Given the description of an element on the screen output the (x, y) to click on. 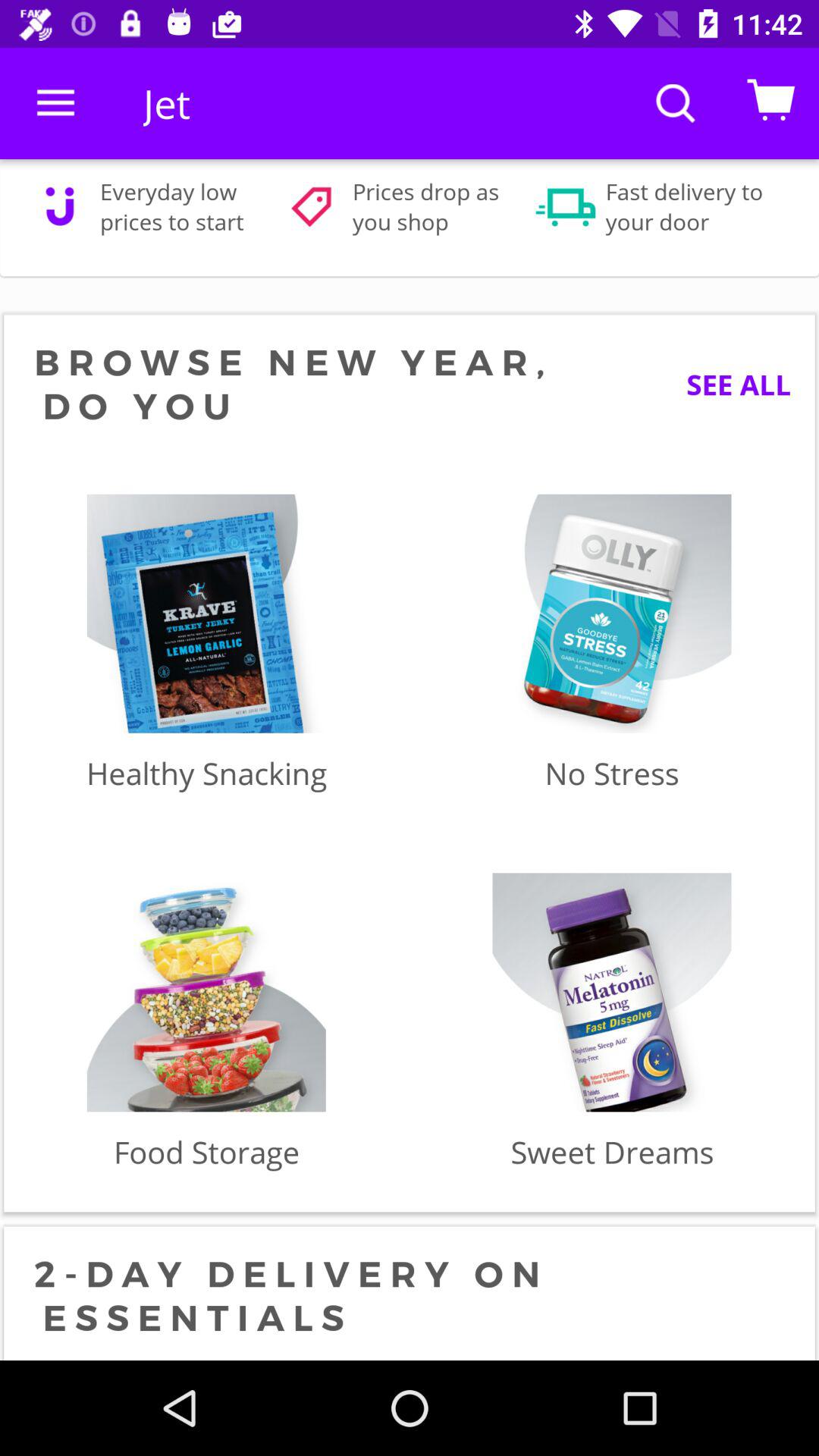
flip until see all item (727, 384)
